Given the description of an element on the screen output the (x, y) to click on. 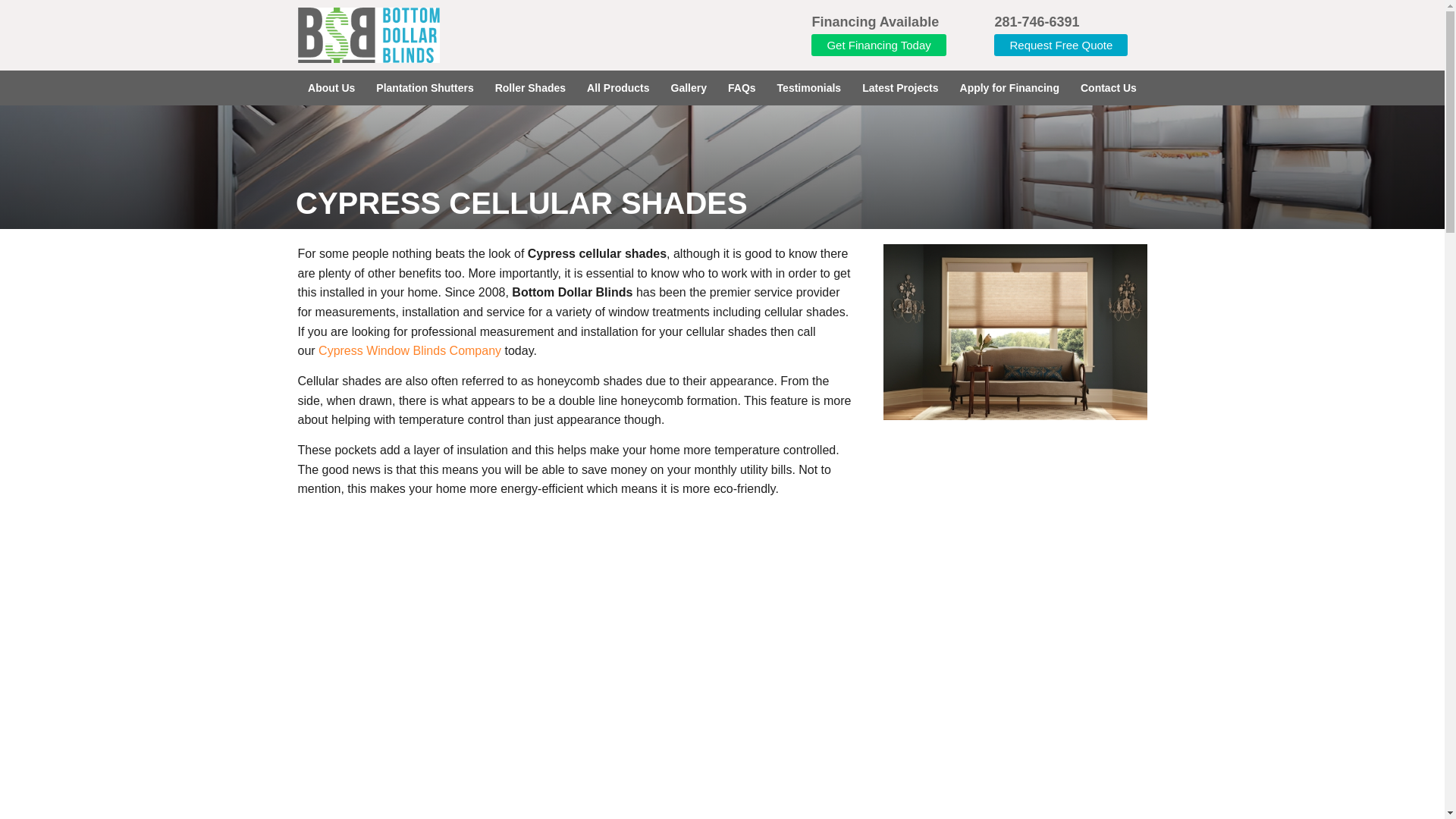
All Products (617, 87)
Get Financing Today (877, 45)
Financing Available (874, 21)
Request Free Quote (1060, 45)
Plantation Shutters (424, 87)
Roller Shades (530, 87)
About Us (331, 87)
281-746-6391 (1036, 21)
